Given the description of an element on the screen output the (x, y) to click on. 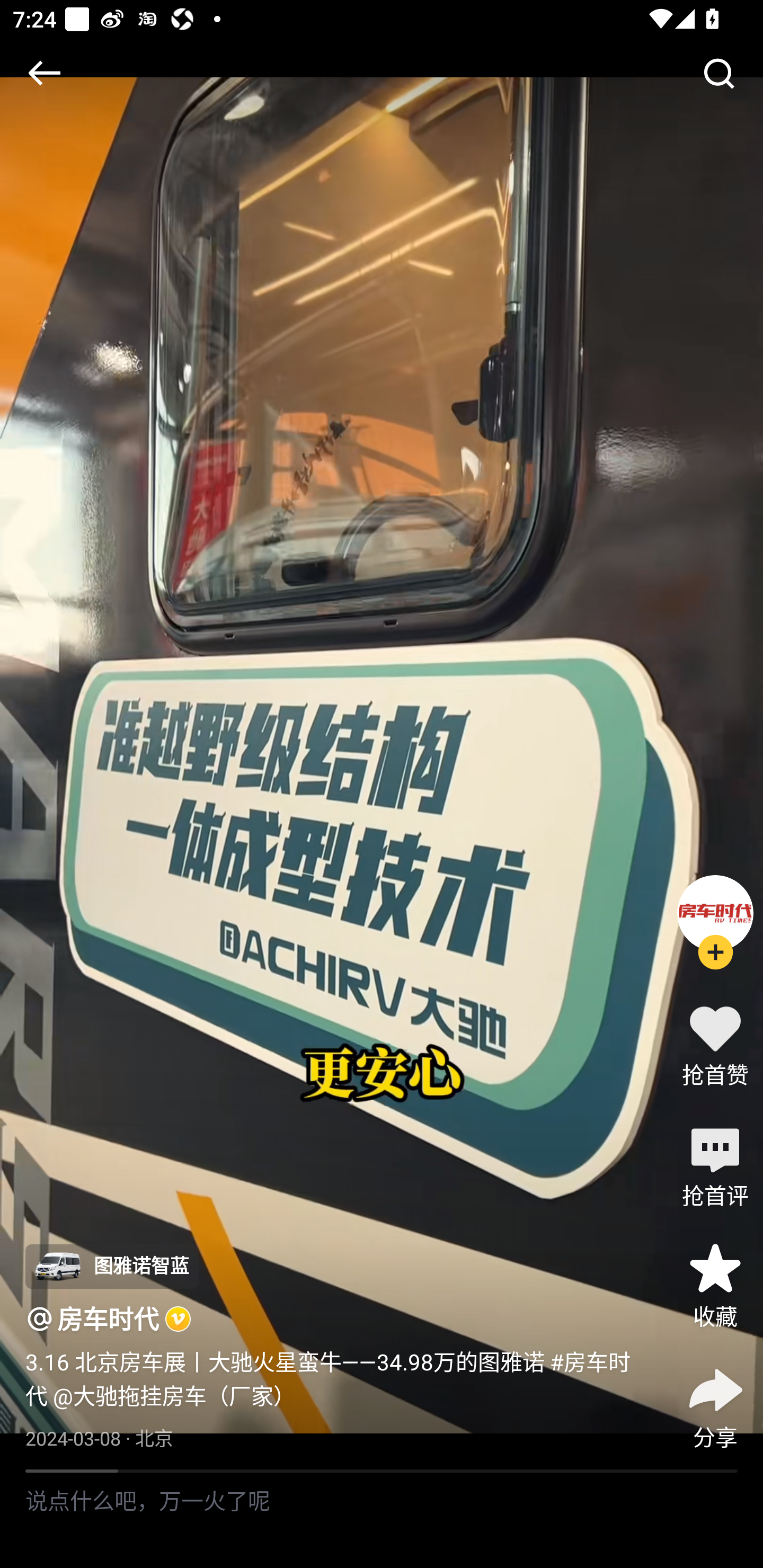
 (44, 72)
 (718, 72)
抢首评 (715, 1164)
收藏 (715, 1284)
图雅诺智蓝 (111, 1266)
房车时代 (107, 1318)
3.16 北京房车展丨大驰火星蛮牛——34.98万的图雅诺 #房车时代 @大驰拖挂房车（厂家） (336, 1377)
分享 (715, 1405)
说点什么吧，万一火了呢 (381, 1520)
